Given the description of an element on the screen output the (x, y) to click on. 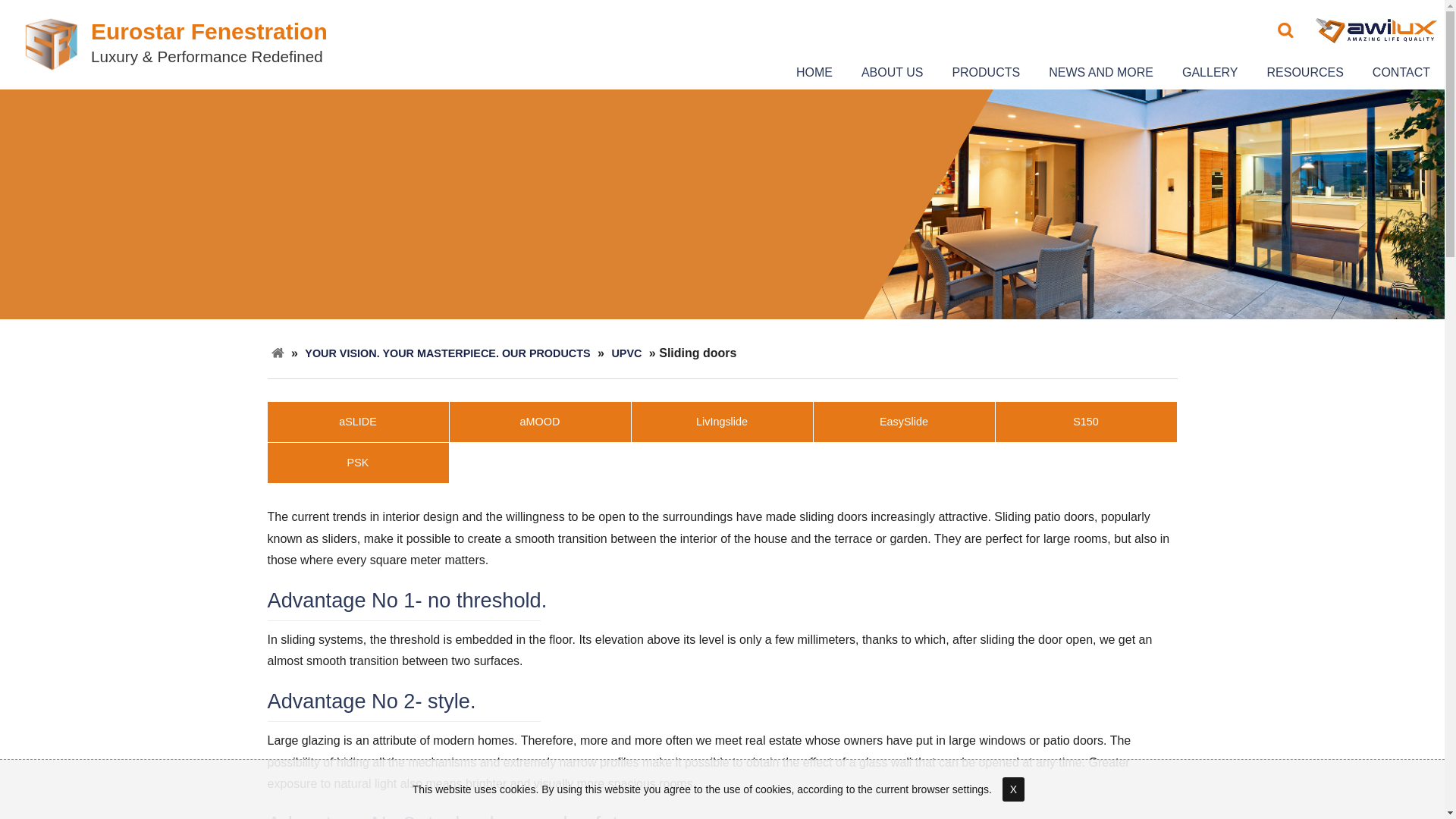
PRODUCTS (985, 72)
HOME (814, 72)
ABOUT US (892, 72)
